Given the description of an element on the screen output the (x, y) to click on. 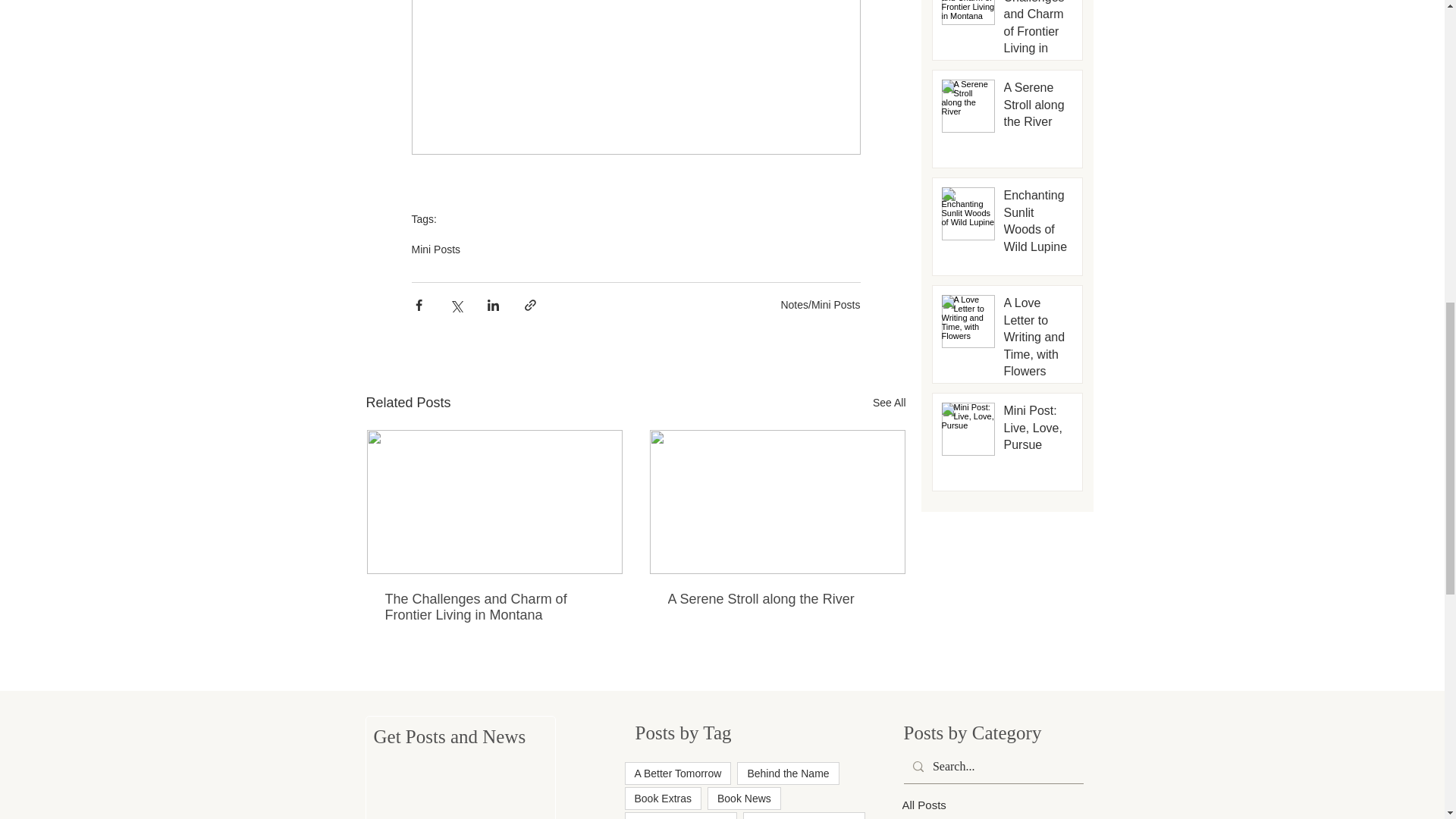
Mini Posts (435, 249)
The Challenges and Charm of Frontier Living in Montana (494, 607)
See All (888, 403)
